Given the description of an element on the screen output the (x, y) to click on. 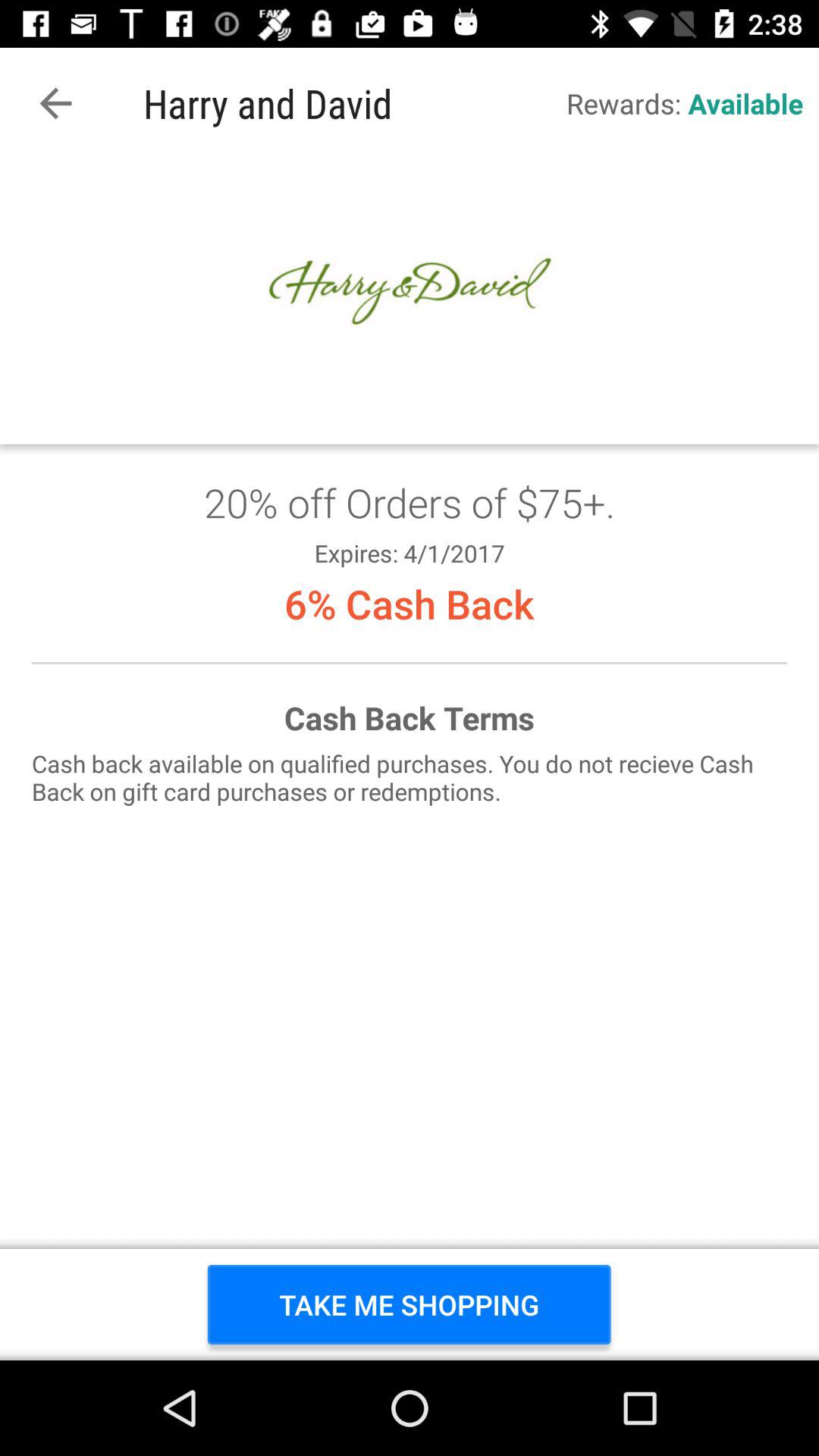
open take me shopping item (408, 1304)
